Given the description of an element on the screen output the (x, y) to click on. 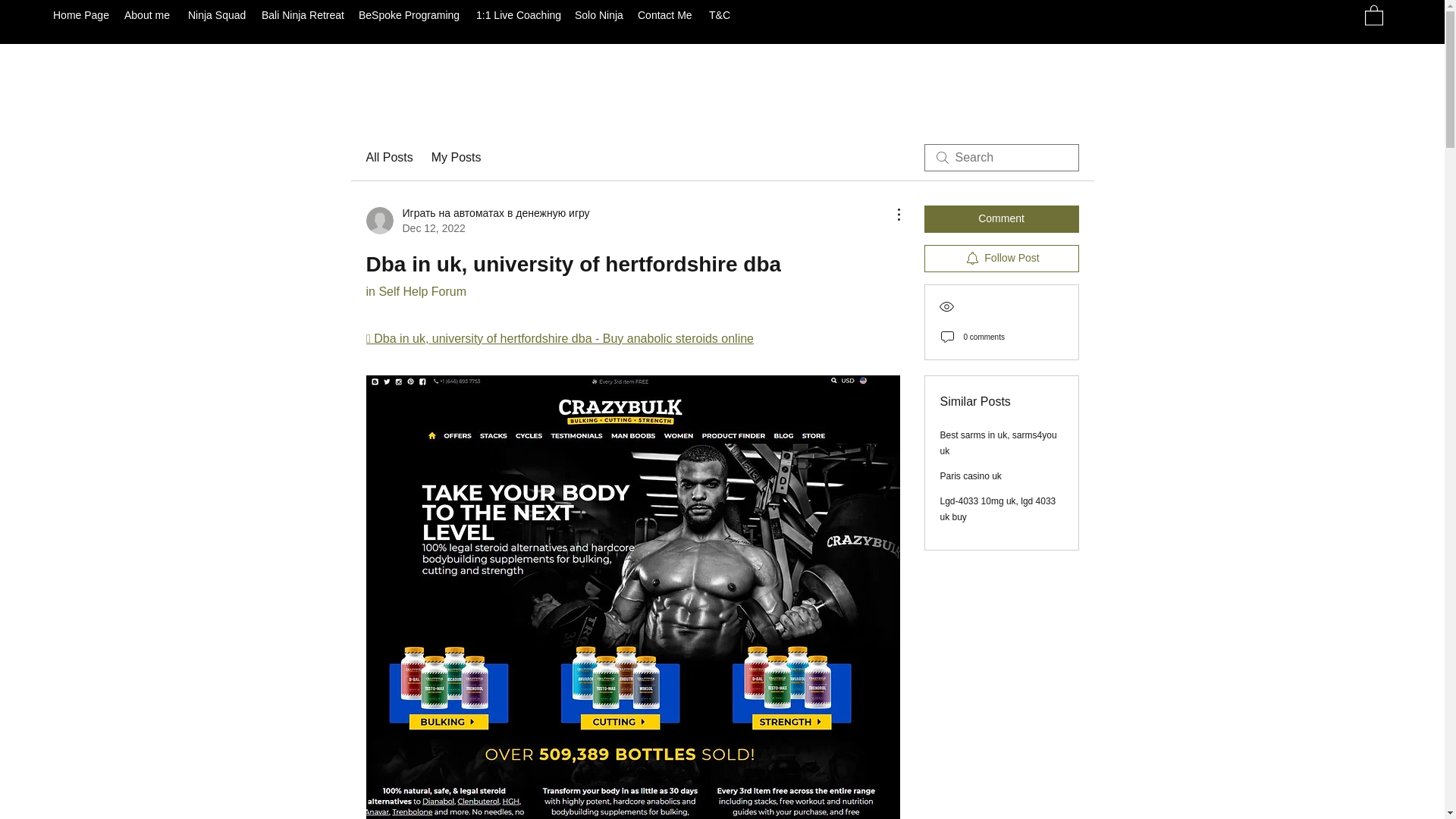
My Posts (455, 157)
Log In (1112, 14)
Paris casino uk (970, 475)
Solo Ninja (598, 15)
Best sarms in uk, sarms4you uk (998, 442)
BeSpoke Programing (409, 15)
Comment (1000, 218)
About me (148, 15)
Ninja Squad (216, 15)
Contact Me (665, 15)
Follow Post (1000, 257)
1:1 Live Coaching (517, 15)
in Self Help Forum (415, 291)
Home Page (80, 15)
All Posts (388, 157)
